Given the description of an element on the screen output the (x, y) to click on. 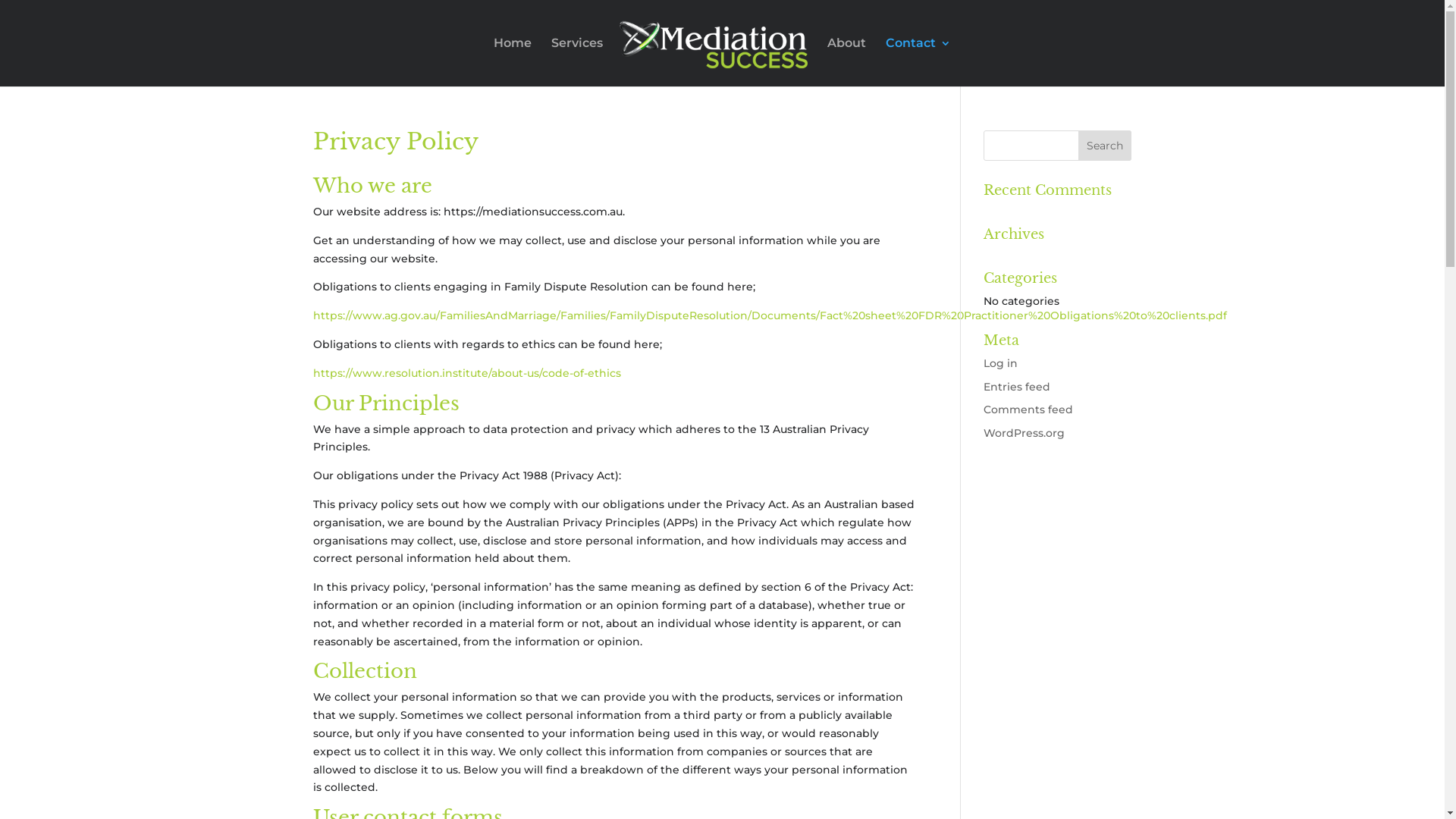
Entries feed Element type: text (1016, 386)
About Element type: text (846, 61)
Search Element type: text (1104, 145)
Home Element type: text (512, 61)
WordPress.org Element type: text (1023, 432)
Log in Element type: text (1000, 363)
Services Element type: text (576, 61)
Comments feed Element type: text (1028, 409)
Contact Element type: text (917, 61)
https://www.resolution.institute/about-us/code-of-ethics Element type: text (466, 372)
